Given the description of an element on the screen output the (x, y) to click on. 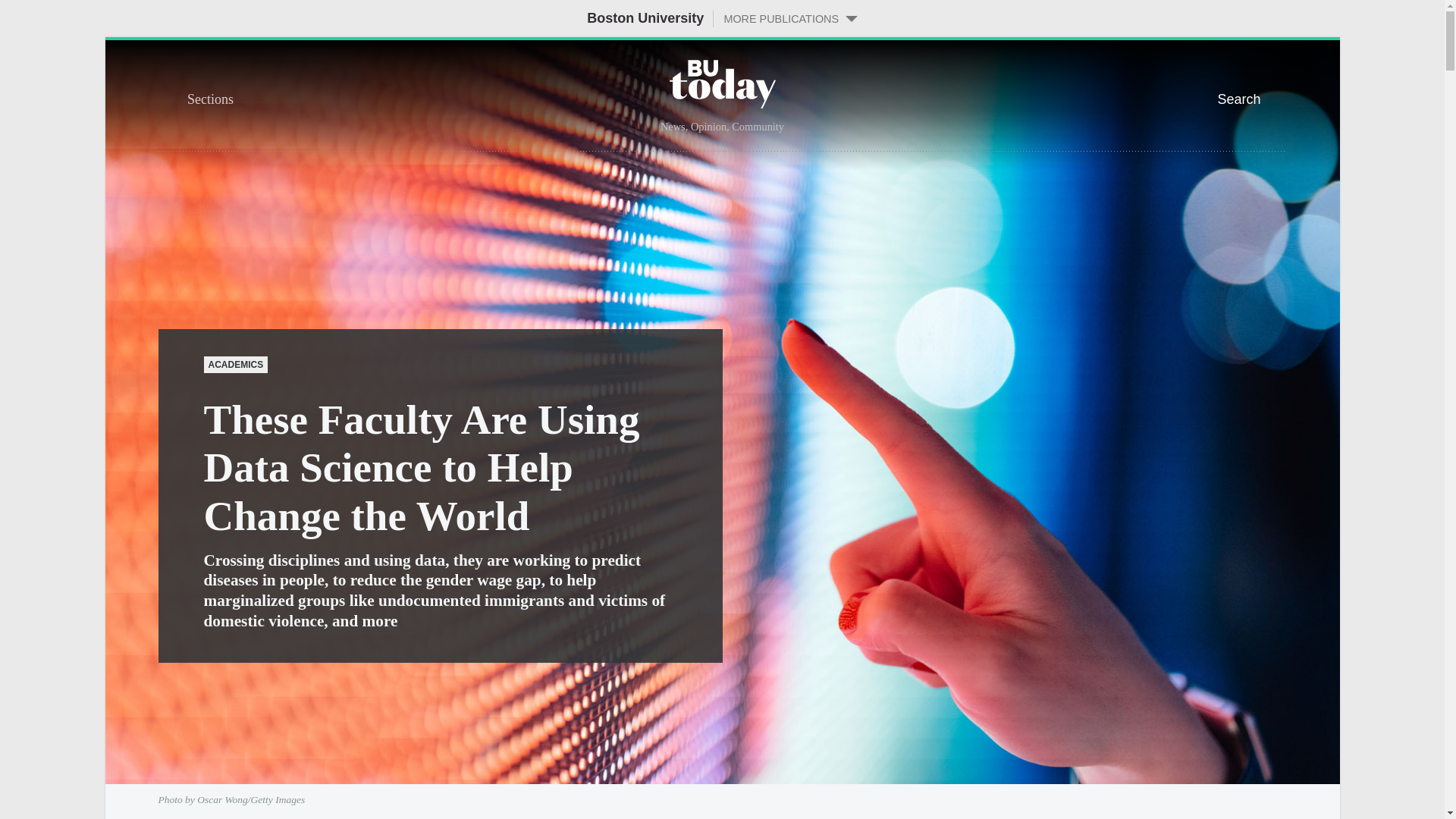
Sections (298, 96)
MORE PUBLICATIONS (785, 18)
Boston University (644, 18)
Search (1251, 96)
